Given the description of an element on the screen output the (x, y) to click on. 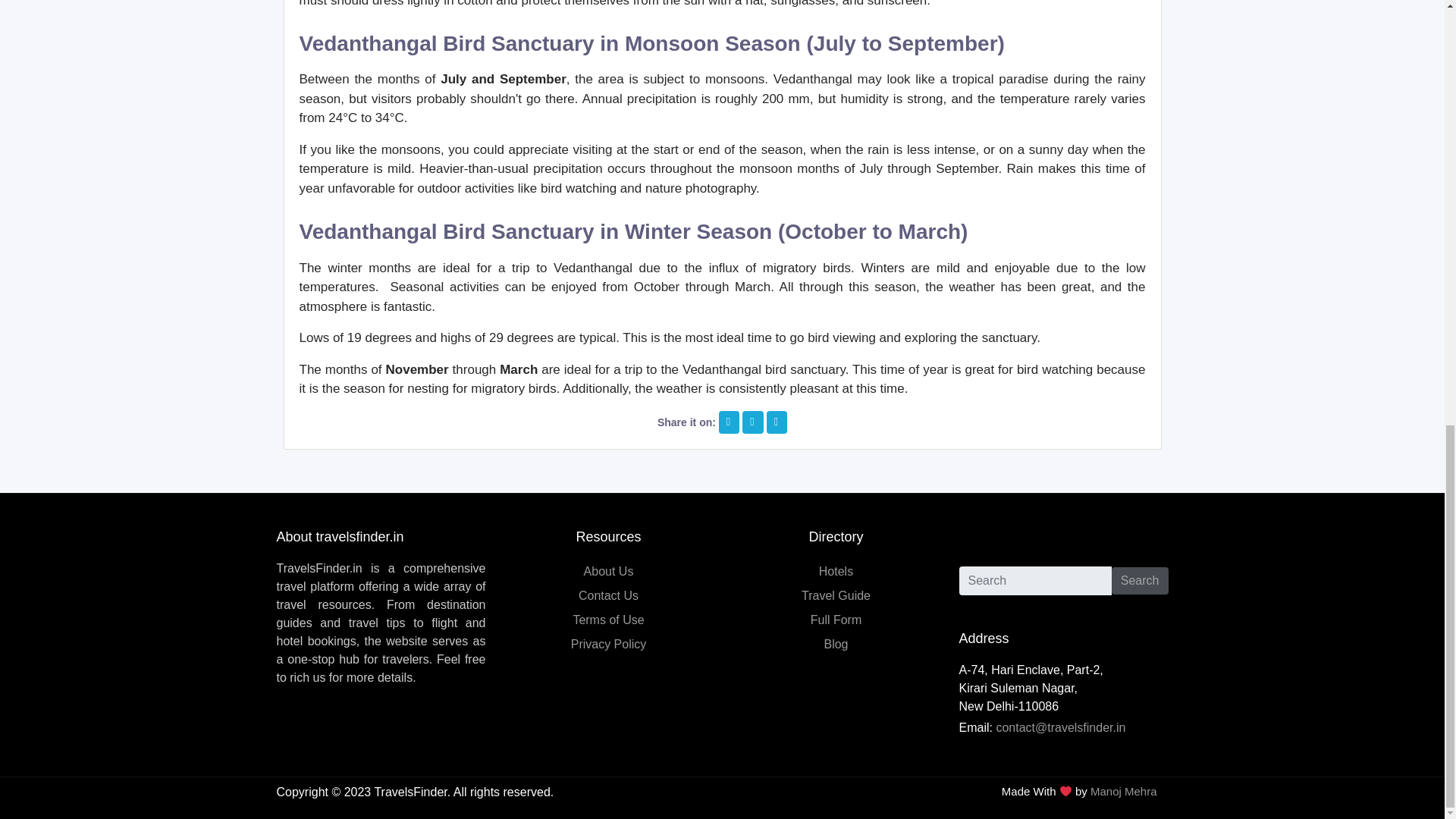
About Us (608, 571)
TravelsFinder (410, 791)
Terms of Use (607, 619)
Privacy Policy (608, 644)
Full Form (835, 619)
Contact Us (608, 594)
Blog (835, 644)
Travel Guide (836, 594)
Manoj Mehra (1123, 790)
Search (1140, 580)
